Given the description of an element on the screen output the (x, y) to click on. 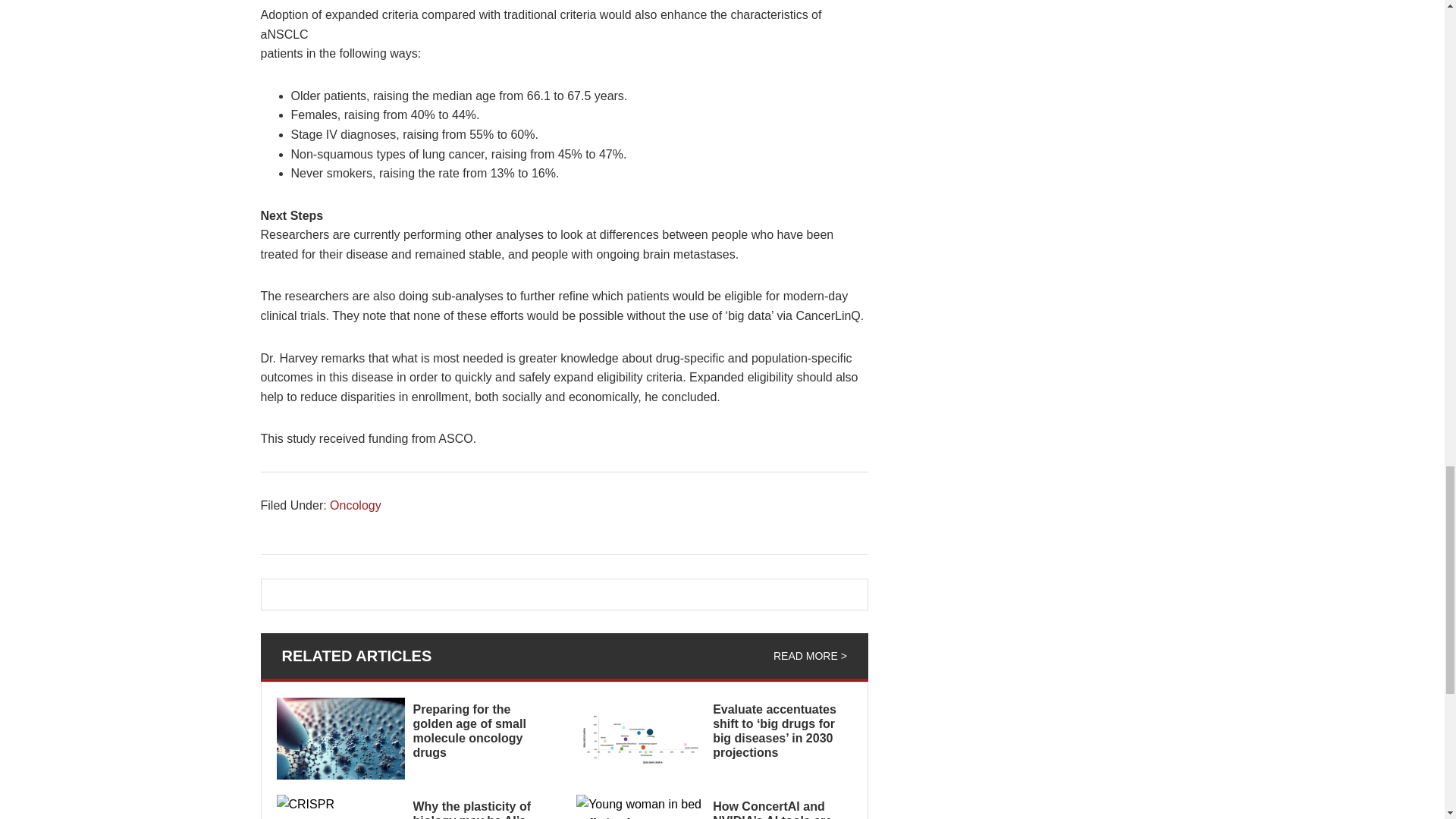
Oncology (355, 504)
